Given the description of an element on the screen output the (x, y) to click on. 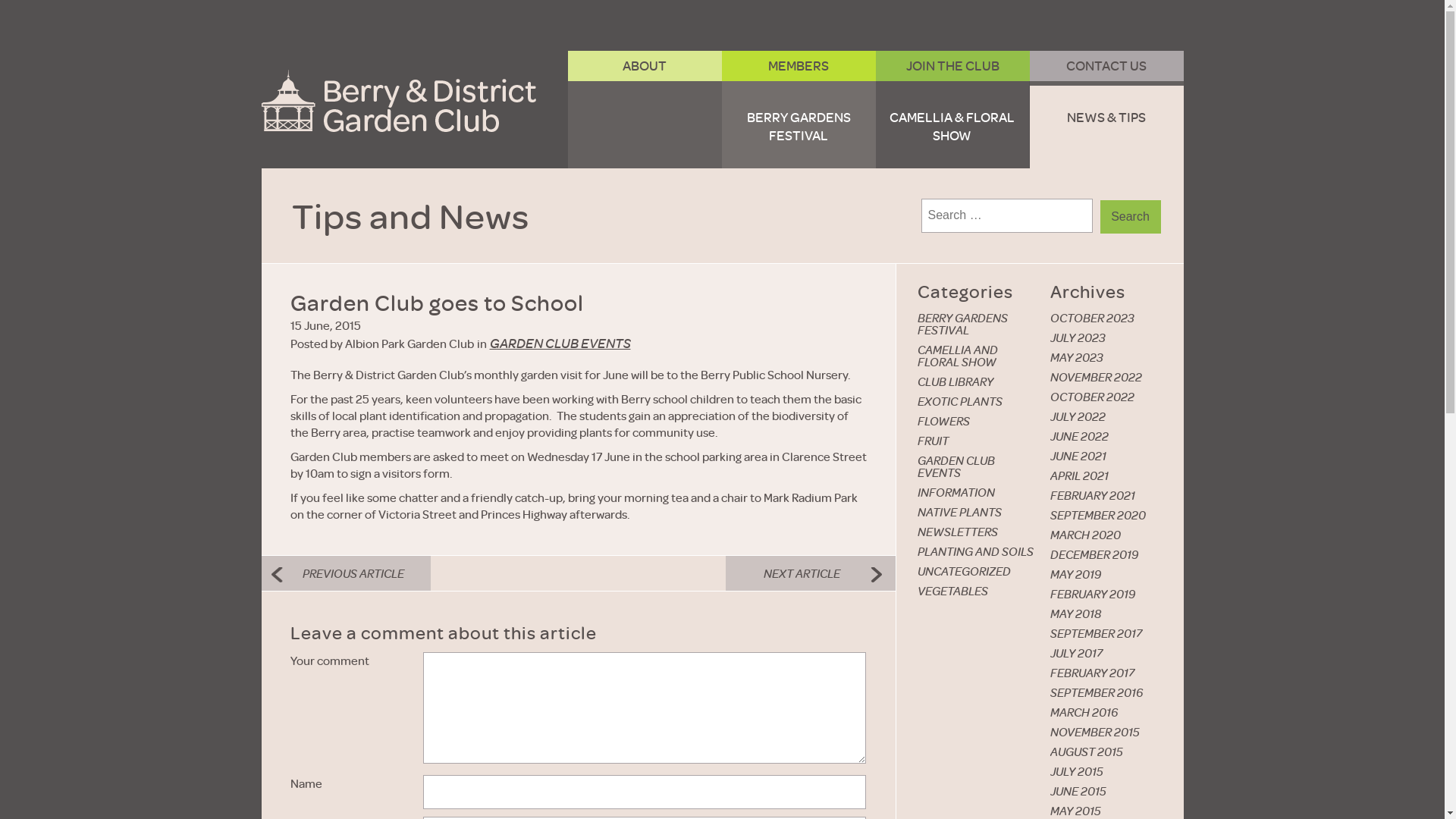
CAMELLIA & FLORAL SHOW Element type: text (952, 126)
INFORMATION Element type: text (955, 492)
JUNE 2015 Element type: text (1078, 790)
FRUIT Element type: text (932, 440)
AUGUST 2015 Element type: text (1086, 751)
MAY 2015 Element type: text (1075, 810)
SEPTEMBER 2016 Element type: text (1096, 692)
SEPTEMBER 2017 Element type: text (1096, 633)
NOVEMBER 2015 Element type: text (1094, 731)
Berry & District Garden Club Element type: hover (397, 100)
UNCATEGORIZED Element type: text (963, 570)
CLUB LIBRARY Element type: text (955, 381)
JOIN THE CLUB Element type: text (952, 65)
PREVIOUS ARTICLE Element type: text (344, 572)
OCTOBER 2023 Element type: text (1092, 317)
DECEMBER 2019 Element type: text (1094, 554)
BERRY GARDENS FESTIVAL Element type: text (976, 323)
BERRY GARDENS FESTIVAL Element type: text (798, 126)
GARDEN CLUB EVENTS Element type: text (976, 466)
OCTOBER 2022 Element type: text (1092, 396)
NATIVE PLANTS Element type: text (959, 511)
JUNE 2022 Element type: text (1079, 435)
NEWSLETTERS Element type: text (957, 531)
FLOWERS Element type: text (943, 420)
CAMELLIA AND FLORAL SHOW Element type: text (976, 355)
NOVEMBER 2022 Element type: text (1096, 376)
FEBRUARY 2019 Element type: text (1092, 593)
Search Element type: text (1129, 216)
JULY 2017 Element type: text (1076, 652)
NEXT ARTICLE Element type: text (810, 572)
MAY 2023 Element type: text (1076, 357)
MARCH 2020 Element type: text (1085, 534)
MEMBERS Element type: text (798, 65)
EXOTIC PLANTS Element type: text (959, 401)
NEWS & TIPS Element type: text (1106, 126)
PLANTING AND SOILS Element type: text (975, 551)
JULY 2015 Element type: text (1076, 771)
SEPTEMBER 2020 Element type: text (1097, 514)
ABOUT Element type: text (644, 65)
JULY 2022 Element type: text (1077, 416)
JULY 2023 Element type: text (1077, 337)
GARDEN CLUB EVENTS Element type: text (559, 343)
FEBRUARY 2017 Element type: text (1092, 672)
MAY 2019 Element type: text (1075, 573)
APRIL 2021 Element type: text (1079, 475)
MARCH 2016 Element type: text (1083, 712)
MAY 2018 Element type: text (1075, 613)
CONTACT US Element type: text (1106, 65)
VEGETABLES Element type: text (952, 590)
FEBRUARY 2021 Element type: text (1092, 495)
JUNE 2021 Element type: text (1078, 455)
